Given the description of an element on the screen output the (x, y) to click on. 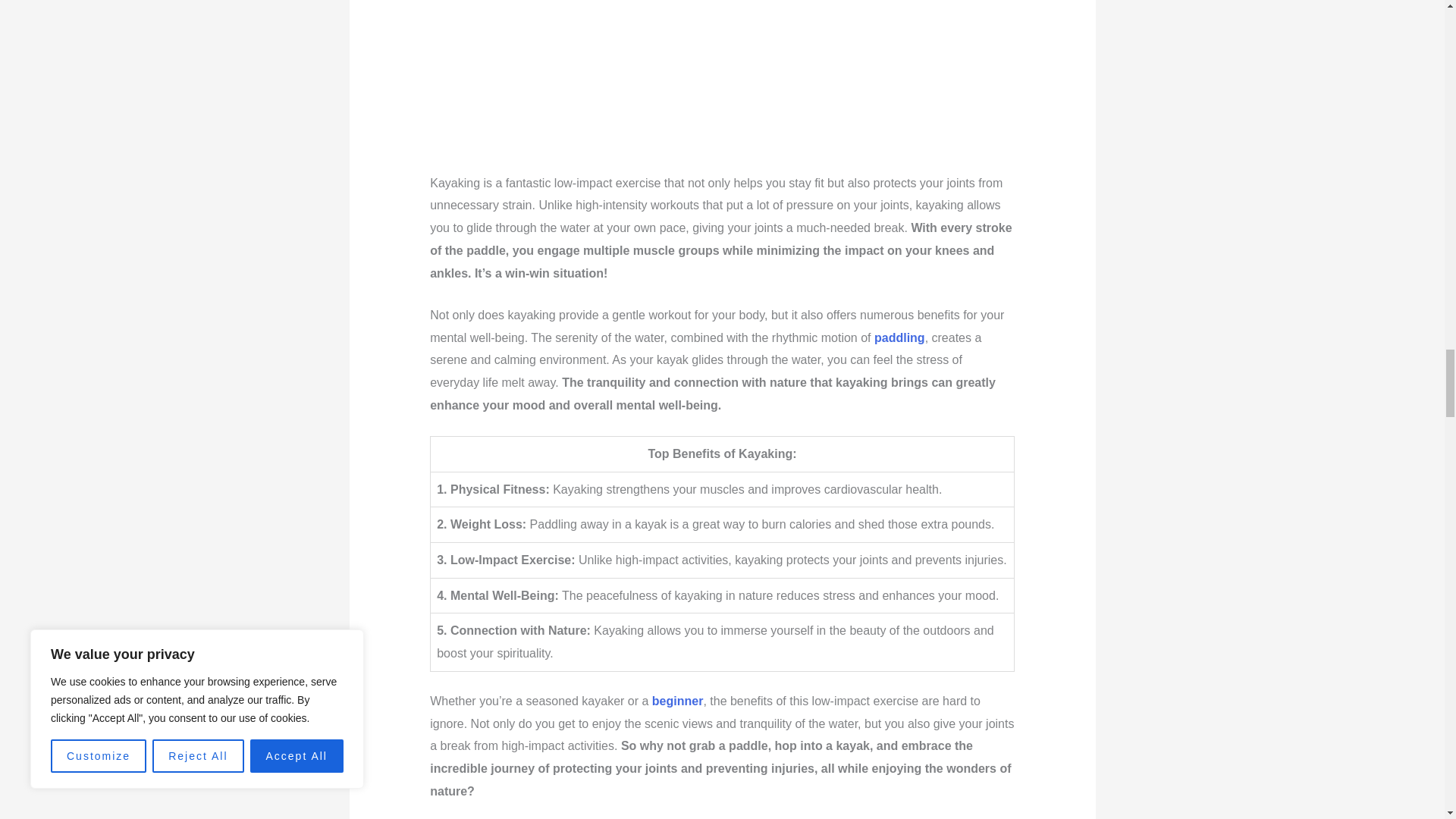
paddling (899, 337)
beginner (677, 700)
